Given the description of an element on the screen output the (x, y) to click on. 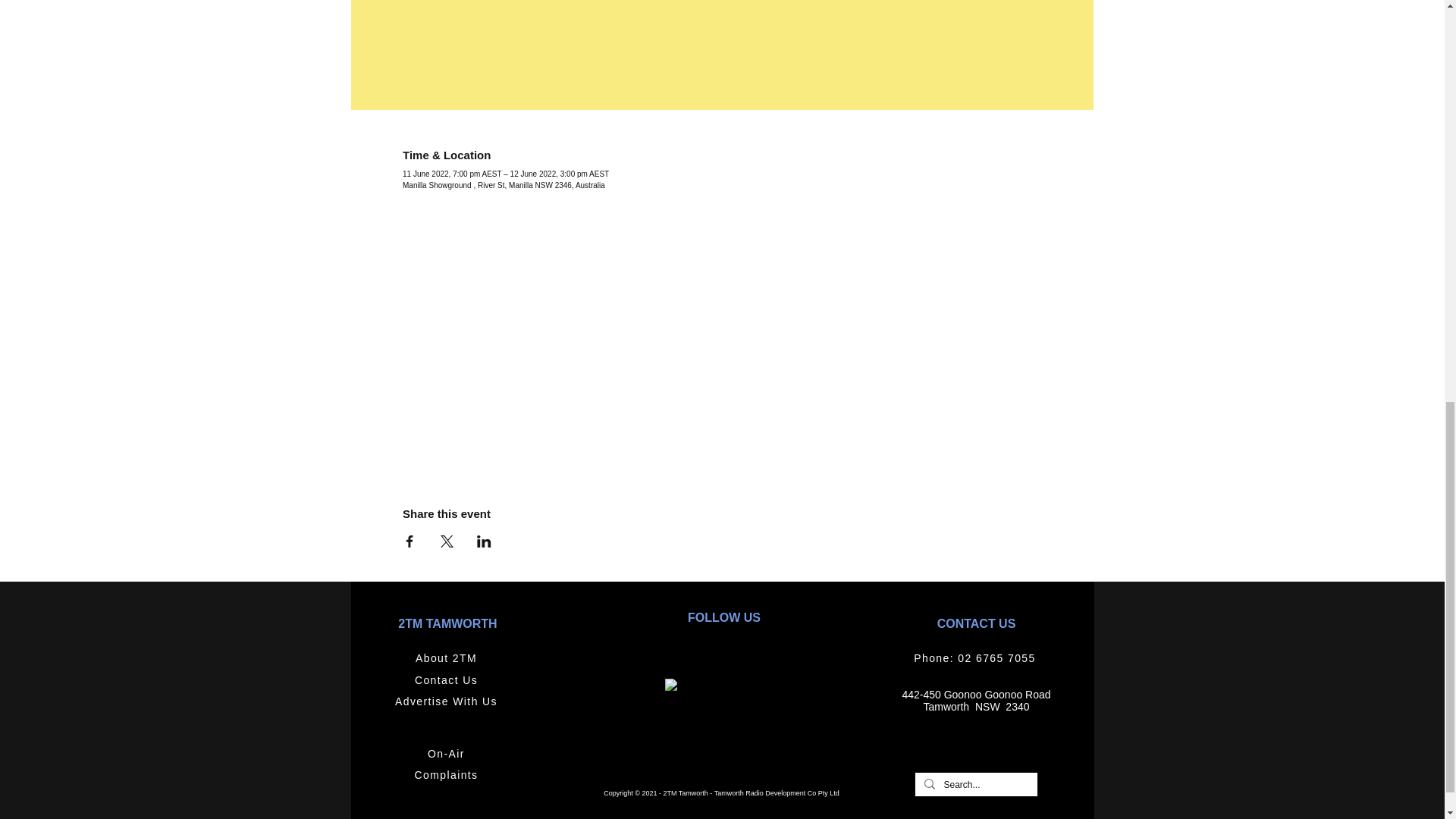
Complaints (447, 774)
Advertise With Us (447, 701)
Phone: 02 6765 7055 (976, 658)
About 2TM (448, 658)
On-Air (447, 753)
Contact Us (448, 680)
